Given the description of an element on the screen output the (x, y) to click on. 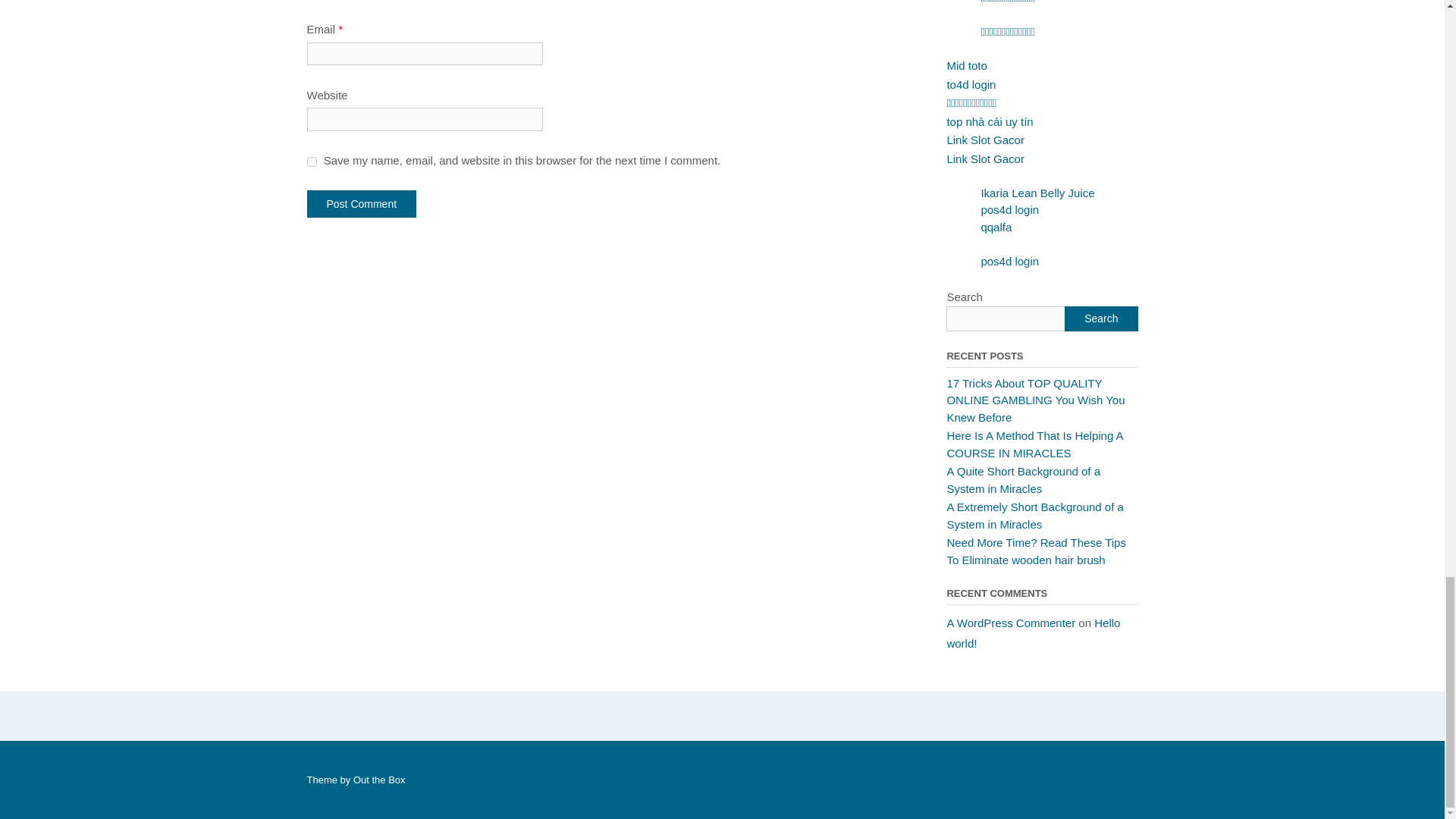
yes (310, 162)
Post Comment (360, 203)
Post Comment (360, 203)
